Given the description of an element on the screen output the (x, y) to click on. 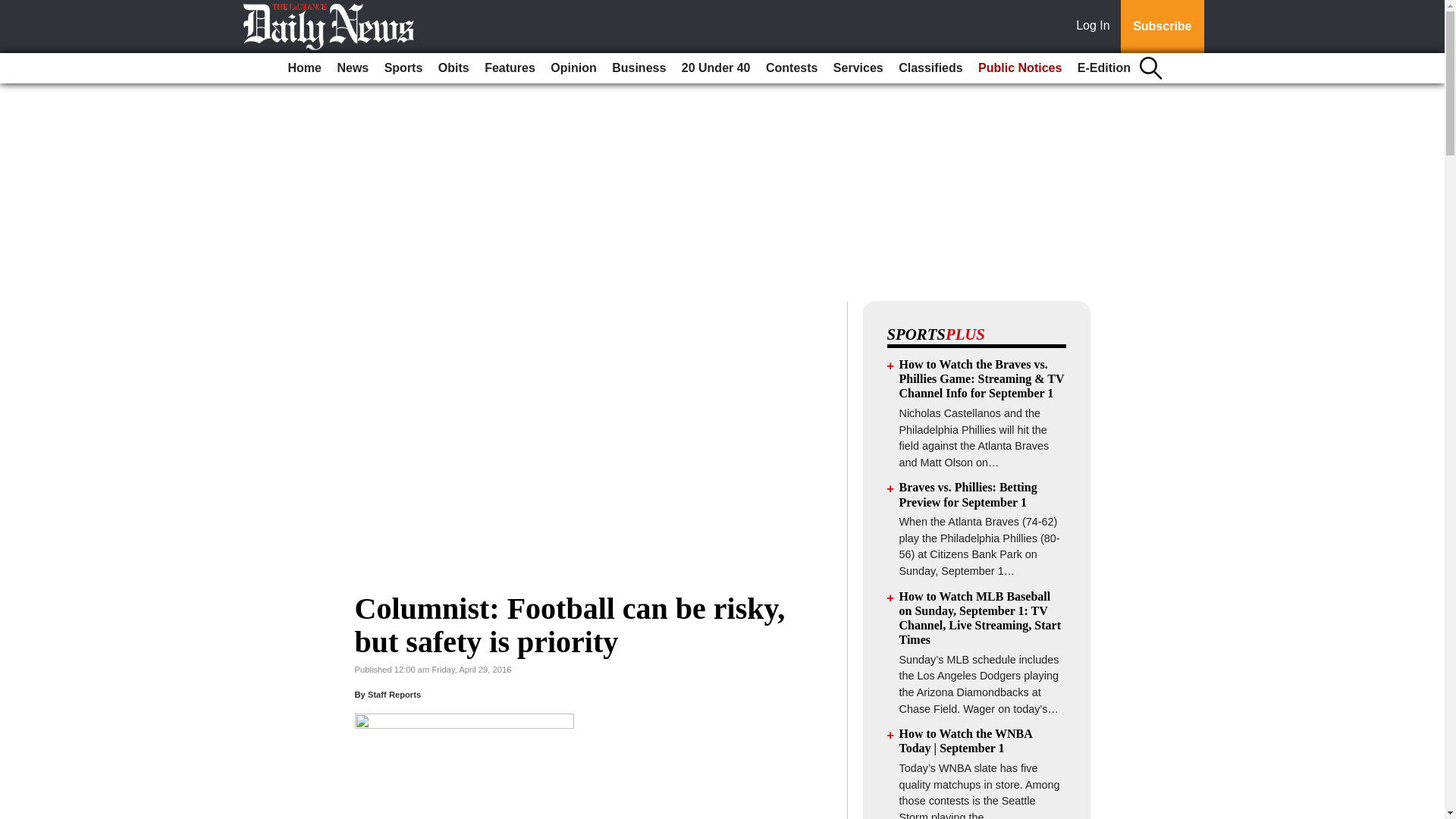
Staff Reports (394, 694)
Subscribe (1162, 26)
Obits (454, 68)
Sports (403, 68)
Classifieds (930, 68)
Opinion (573, 68)
Business (638, 68)
Home (304, 68)
Public Notices (1019, 68)
